Given the description of an element on the screen output the (x, y) to click on. 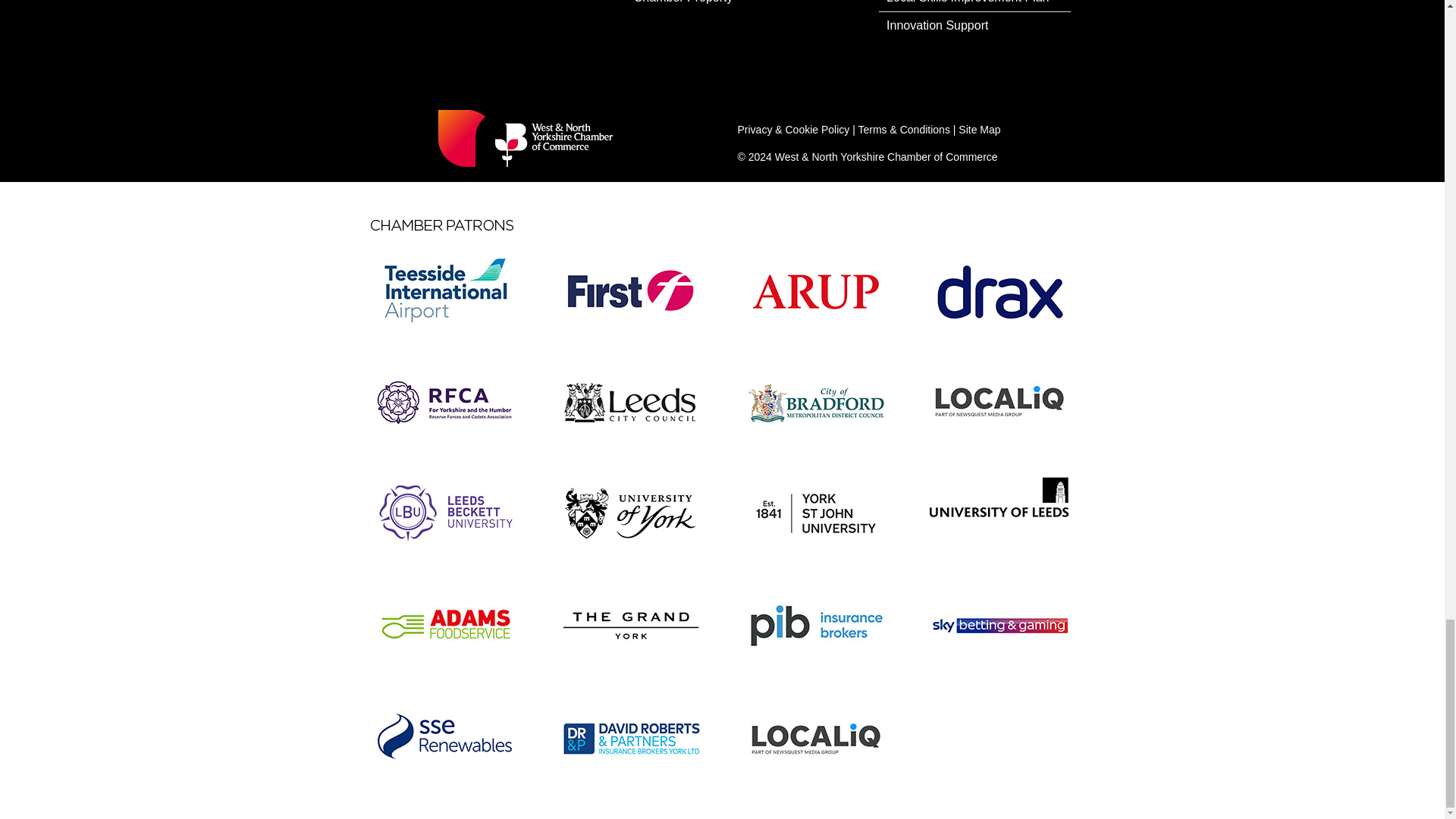
Sub-Menu-Logo-Type (532, 138)
